Given the description of an element on the screen output the (x, y) to click on. 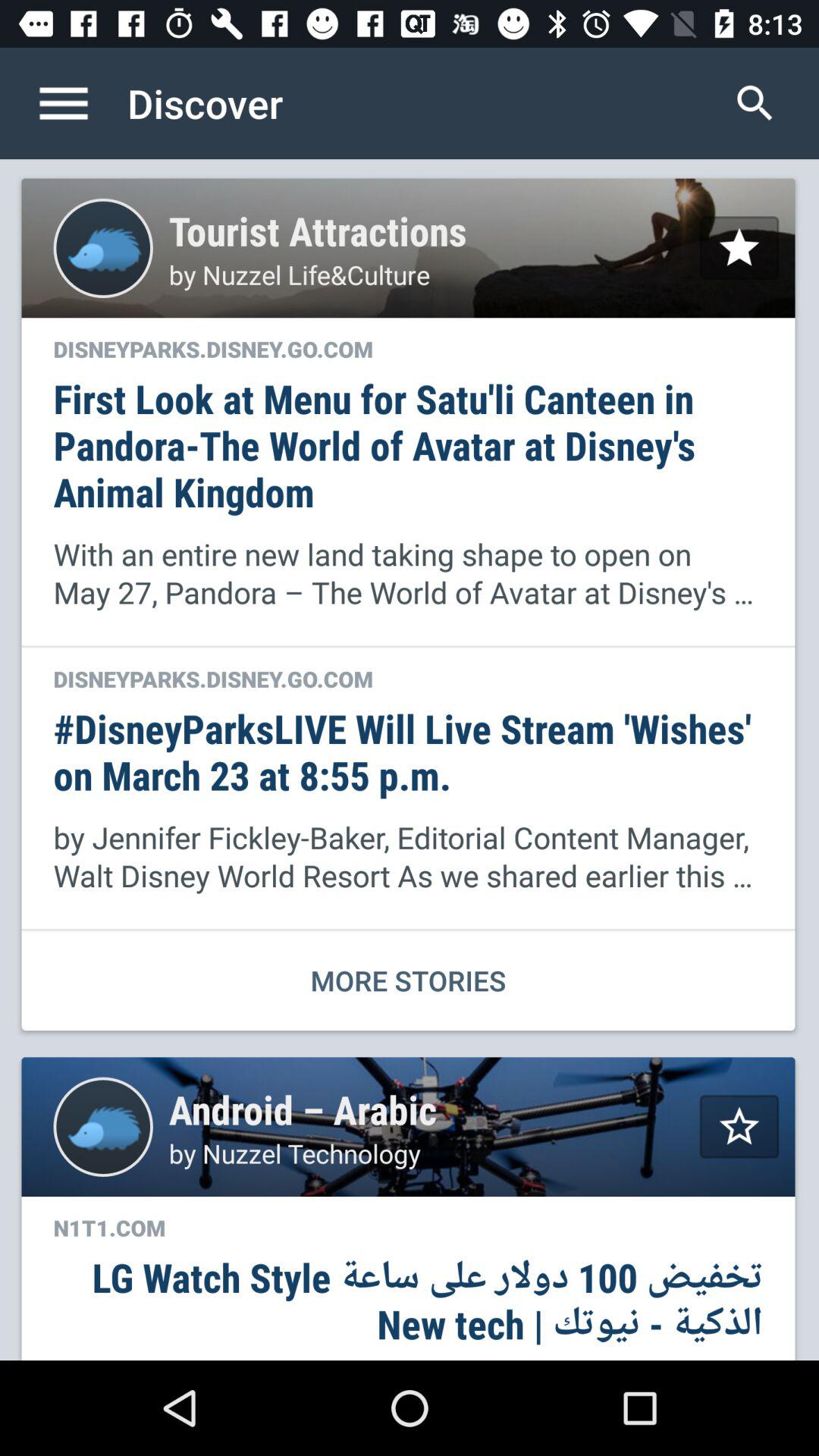
swipe to more stories item (408, 980)
